Given the description of an element on the screen output the (x, y) to click on. 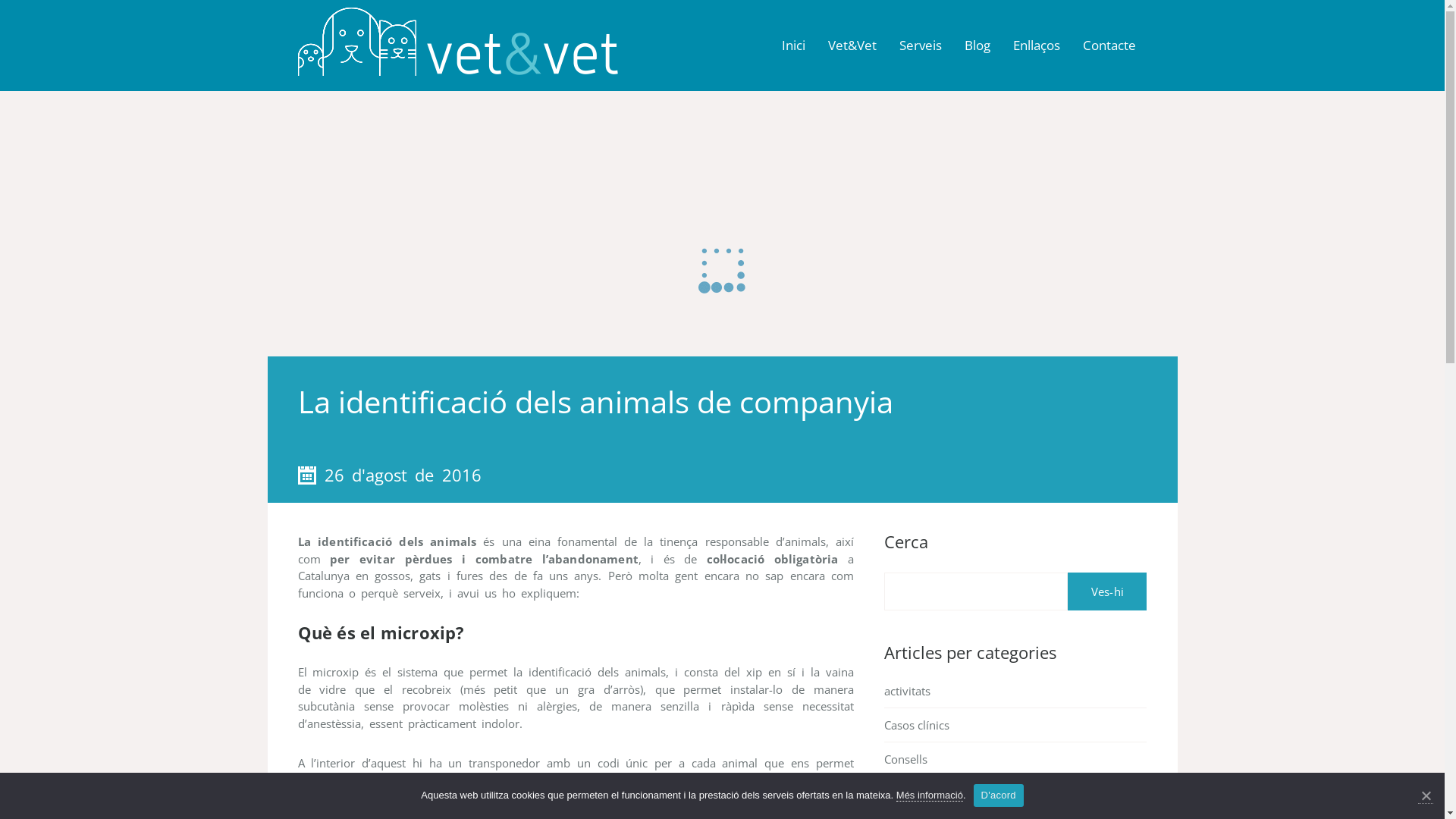
Blog Element type: text (976, 45)
Contacte Element type: text (1108, 45)
D'acord Element type: text (998, 795)
Gats Element type: text (895, 792)
Ves-hi Element type: text (1106, 591)
Inici Element type: text (793, 45)
Serveis Element type: text (919, 45)
Vet&Vet Element type: text (851, 45)
activitats Element type: text (907, 690)
Consells Element type: text (905, 758)
